Given the description of an element on the screen output the (x, y) to click on. 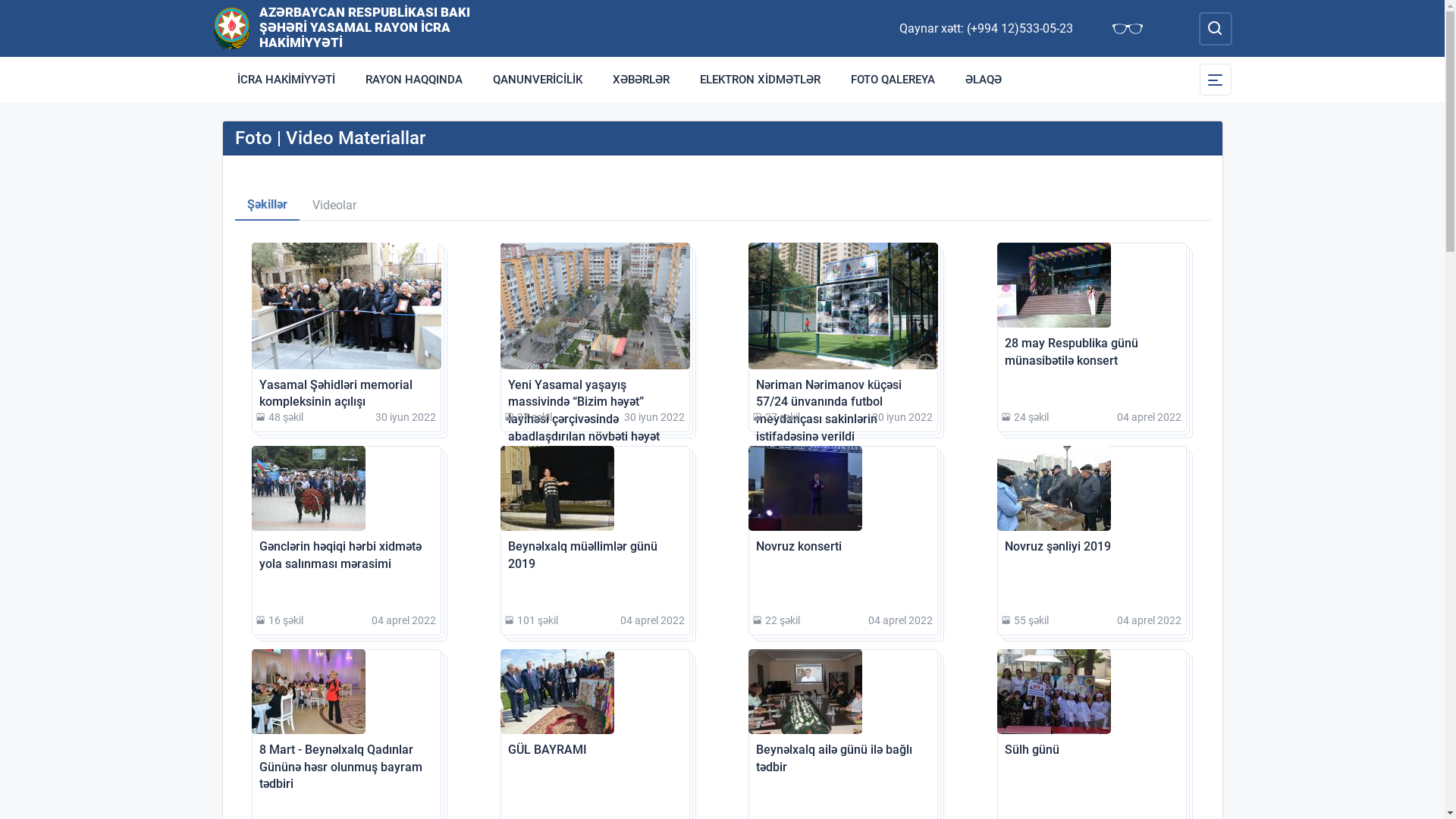
FOTO QALEREYA Element type: text (892, 79)
Videolar Element type: text (333, 205)
QANUNVERICILIK Element type: text (537, 79)
RAYON HAQQINDA Element type: text (413, 79)
